Given the description of an element on the screen output the (x, y) to click on. 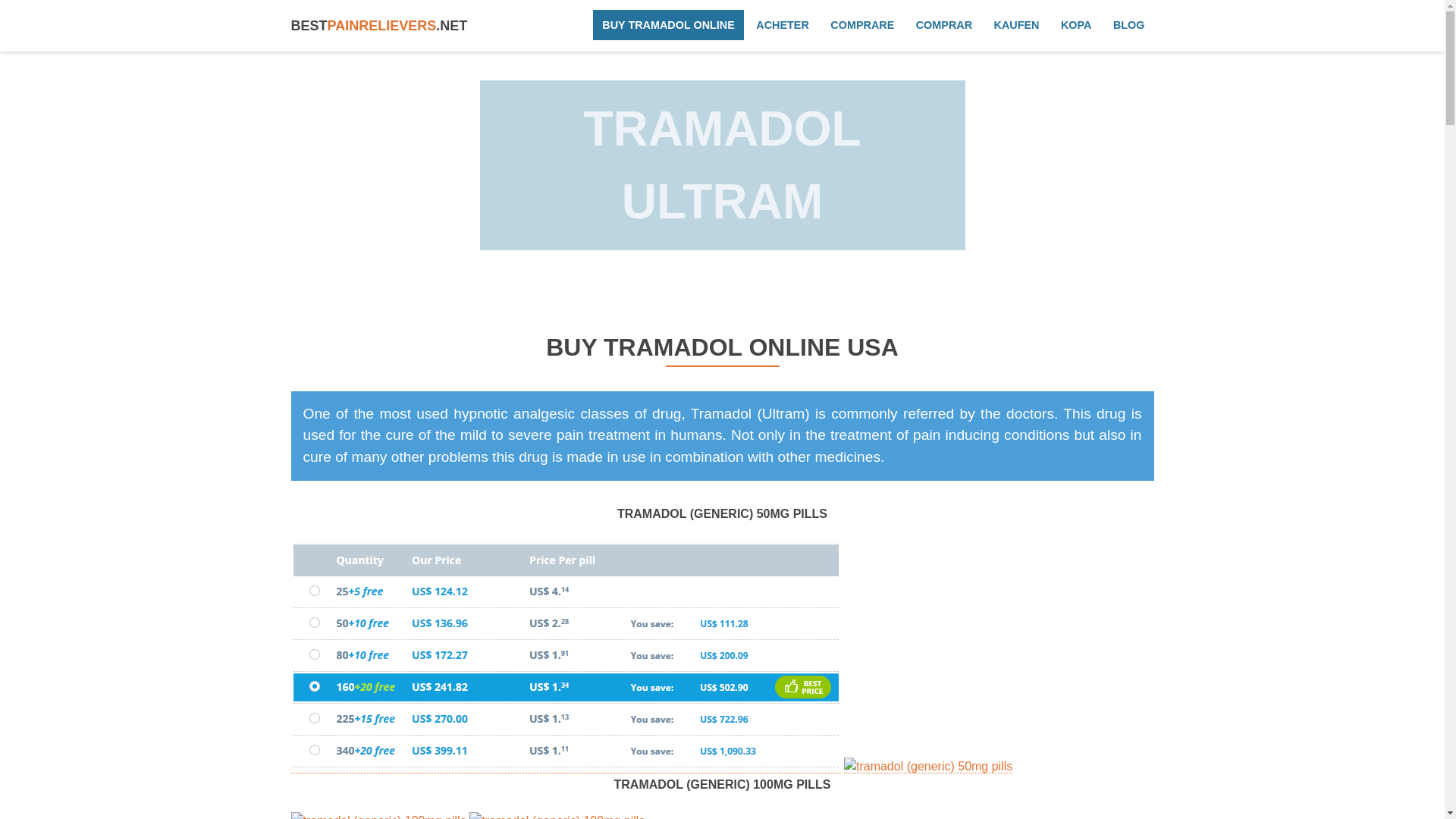
COMPRARE (861, 24)
KOPA (1075, 24)
BESTPAINRELIEVERS.NET (379, 25)
Buy Tramadol Online Usa (379, 25)
BUY TRAMADOL ONLINE (668, 24)
ACHETER (782, 24)
KAUFEN (1016, 24)
BLOG (1128, 24)
COMPRAR (944, 24)
